Given the description of an element on the screen output the (x, y) to click on. 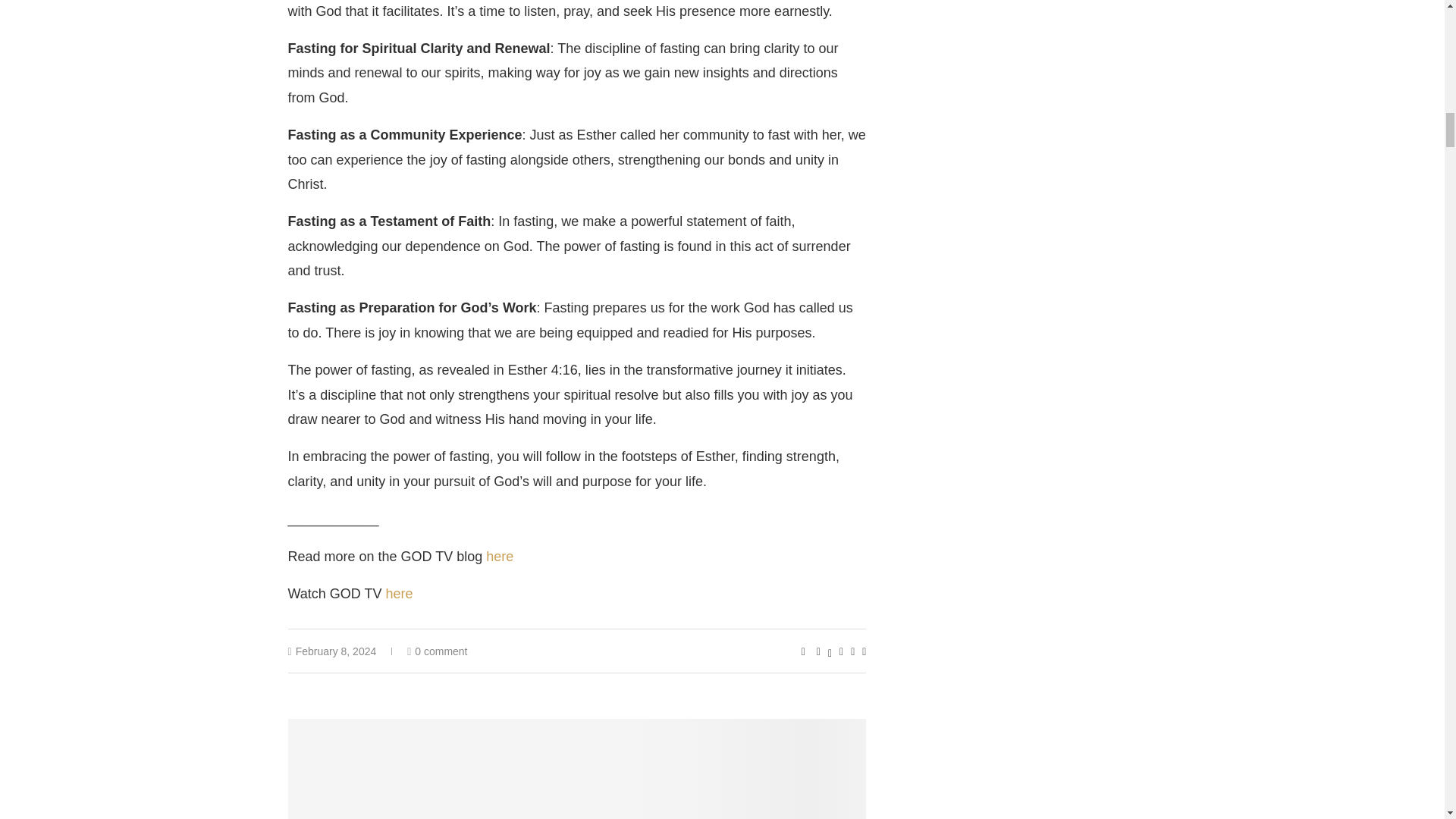
4-tips-how-to-fast (577, 769)
